Given the description of an element on the screen output the (x, y) to click on. 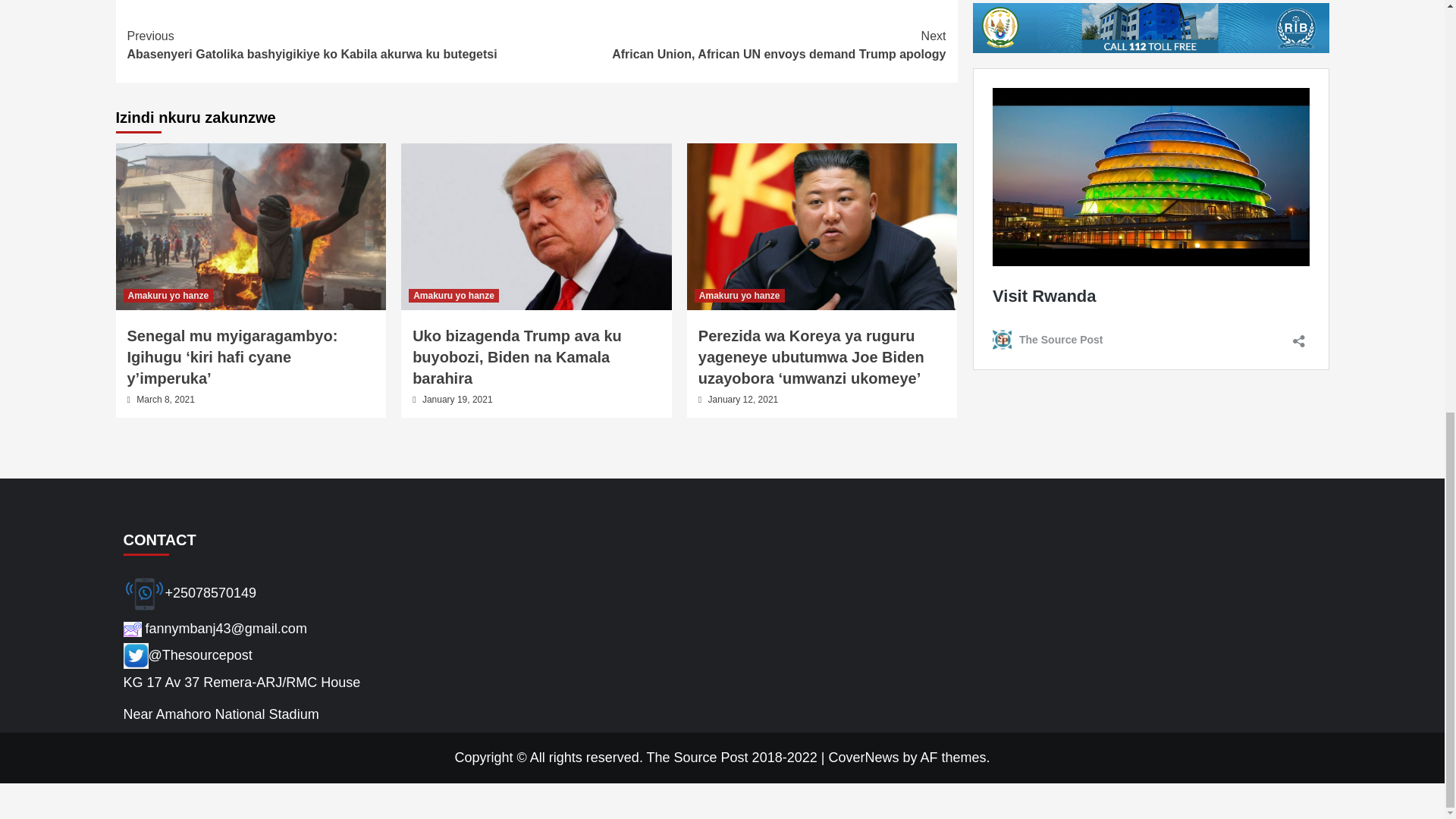
Amakuru yo hanze (167, 295)
January 19, 2021 (457, 398)
Amakuru yo hanze (454, 295)
January 12, 2021 (742, 398)
March 8, 2021 (165, 398)
Amakuru yo hanze (739, 295)
